Given the description of an element on the screen output the (x, y) to click on. 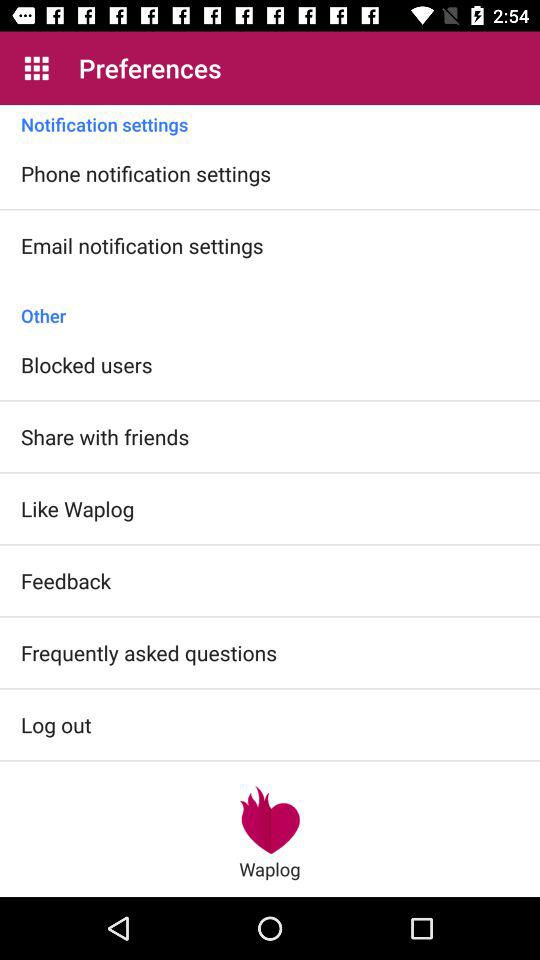
swipe until the log out icon (56, 724)
